Given the description of an element on the screen output the (x, y) to click on. 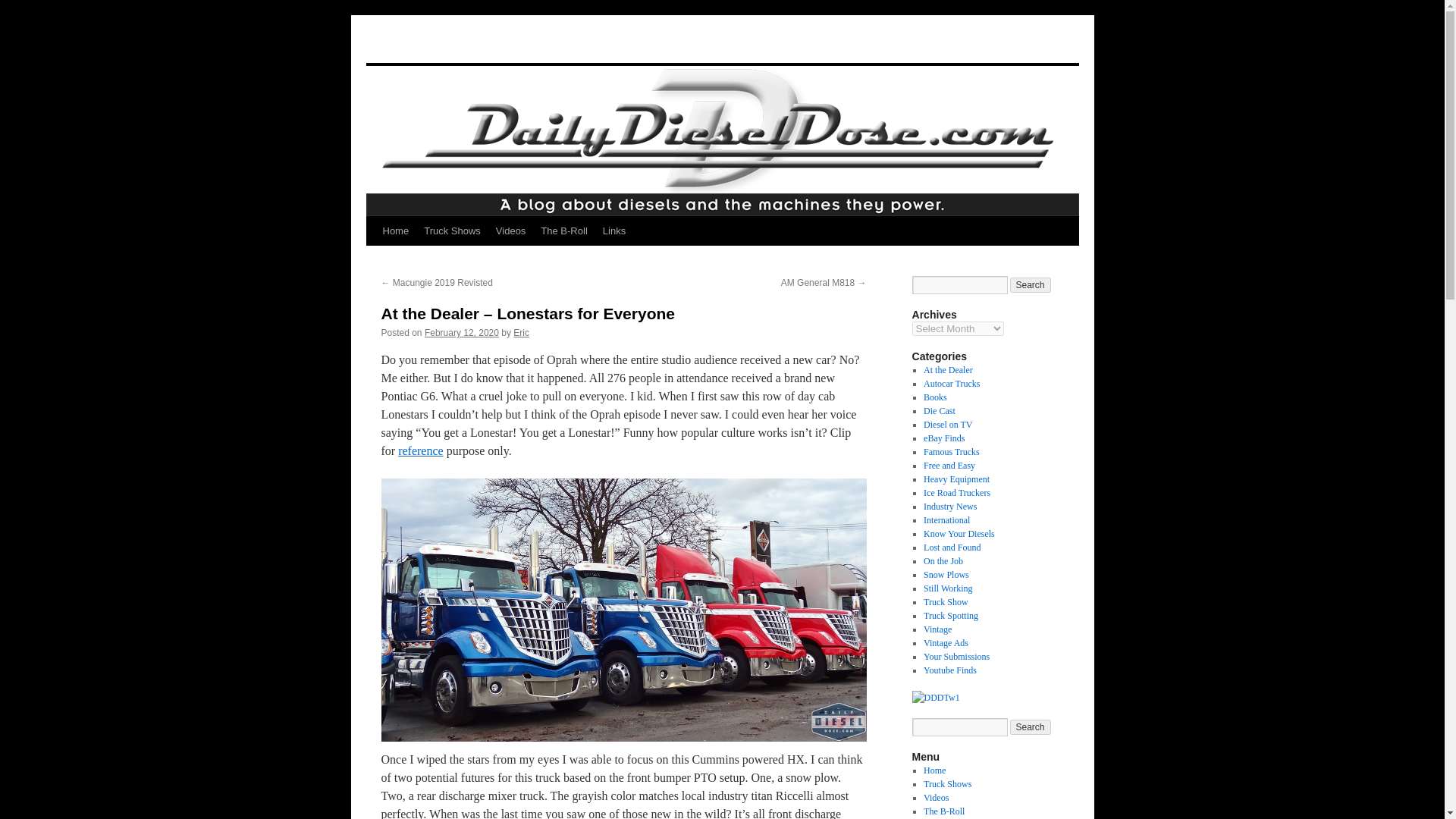
Links (614, 231)
Autocar Trucks (951, 383)
Truck Shows (451, 231)
Eric (521, 332)
February 12, 2020 (462, 332)
Ice Road Truckers (956, 492)
View all posts by Eric (521, 332)
Books (935, 397)
eBay Finds (943, 438)
Search (1030, 726)
